Given the description of an element on the screen output the (x, y) to click on. 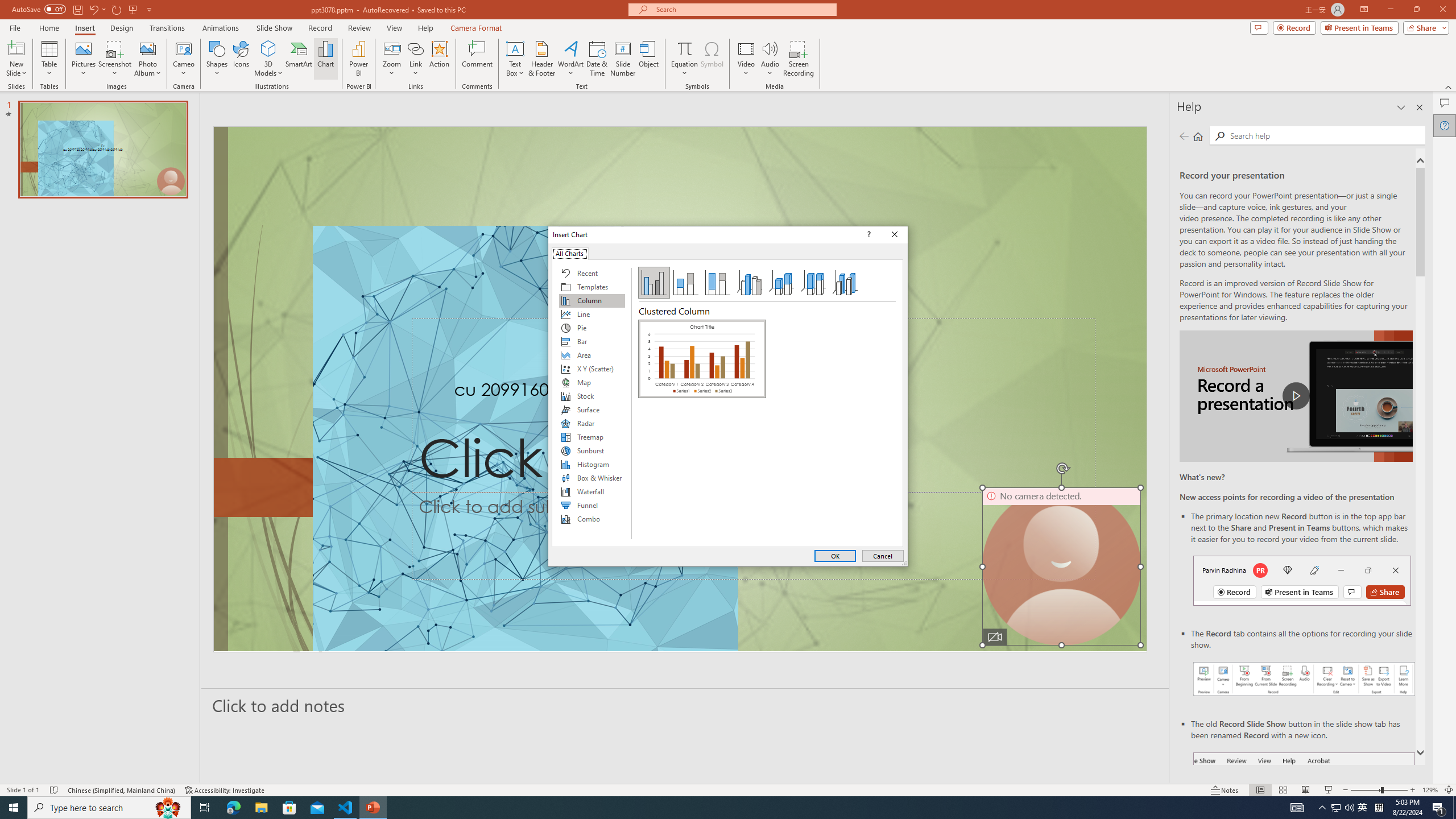
Pie (591, 327)
Column (591, 300)
Treemap (591, 436)
Previous page (1183, 136)
Video (745, 58)
New Photo Album... (147, 48)
Record your presentations screenshot one (1304, 678)
SmartArt... (298, 58)
Record button in top bar (1301, 580)
Header & Footer... (541, 58)
Clustered Column (701, 358)
